Given the description of an element on the screen output the (x, y) to click on. 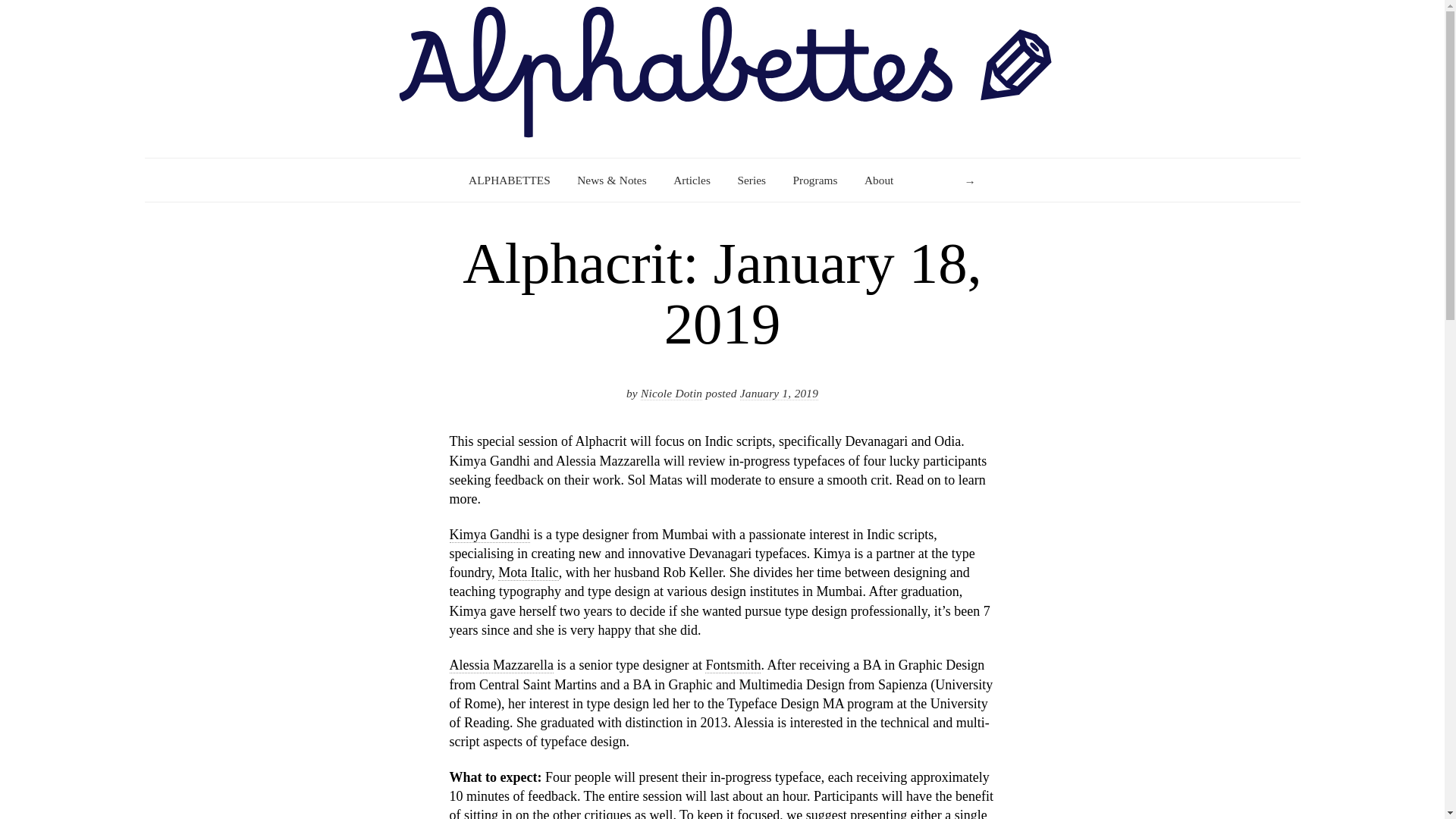
Enter keyword (947, 180)
Series (750, 180)
ALPHABETTES (509, 180)
Nicole Dotin (670, 393)
January 1, 2019 (778, 393)
View all posts by Nicole Dotin (670, 393)
Alessia Mazzarella (500, 665)
Fontsmith (732, 665)
Articles (691, 180)
Mota Italic (527, 572)
